Given the description of an element on the screen output the (x, y) to click on. 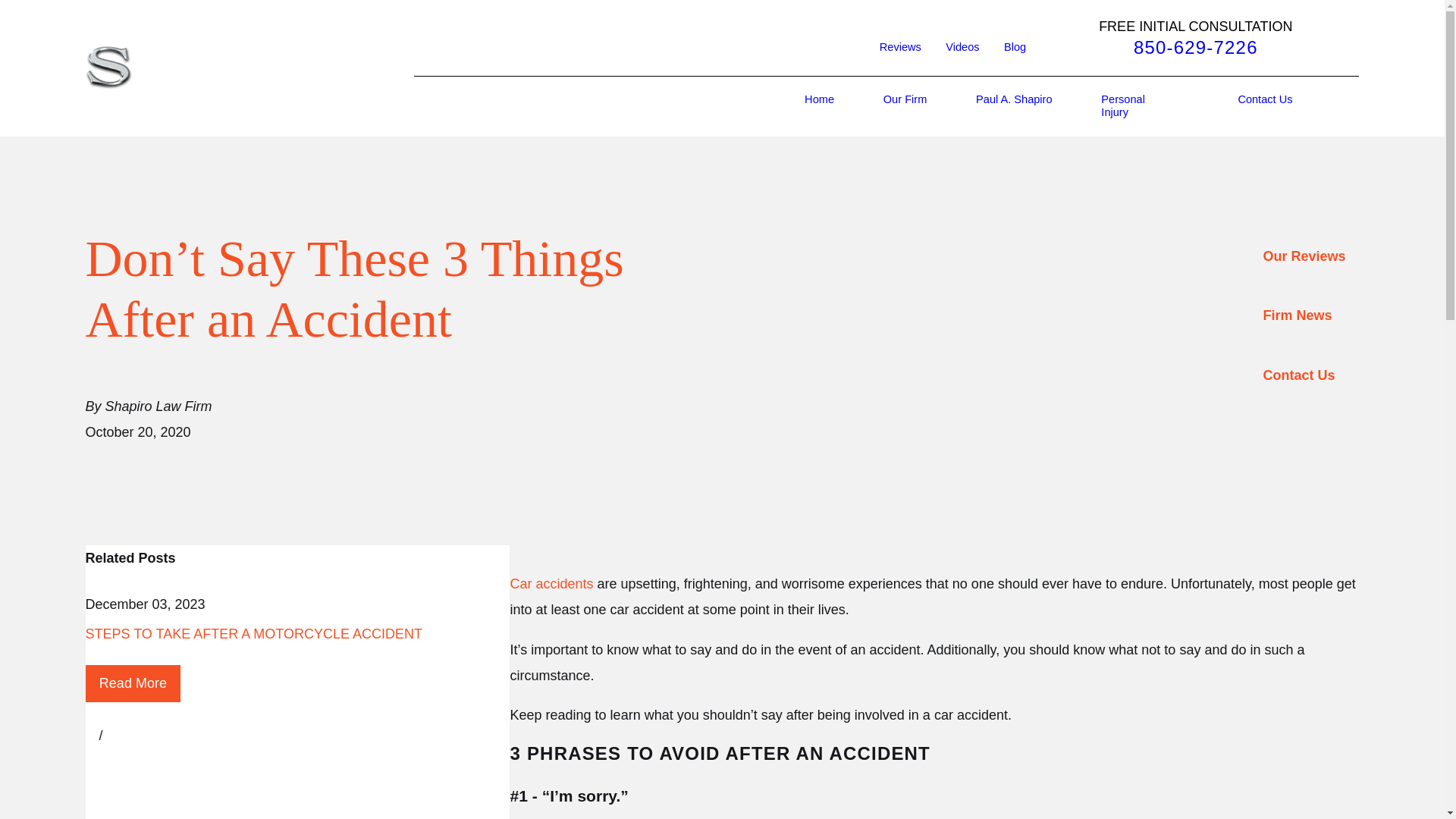
Close the Menu (797, 106)
Search Icon (786, 106)
Paul A. Shapiro (1013, 106)
Reviews (900, 46)
Open the accessibility options menu (1423, 798)
Search Our Site (786, 106)
View next item (109, 735)
Blog (1015, 46)
View previous item (91, 735)
850-629-7226 (1195, 47)
